Given the description of an element on the screen output the (x, y) to click on. 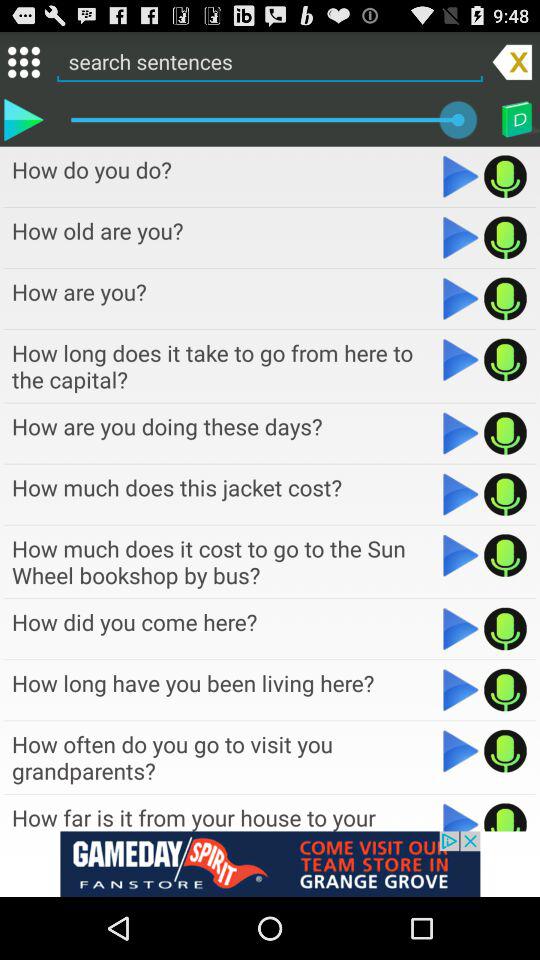
play this audio (505, 816)
